Given the description of an element on the screen output the (x, y) to click on. 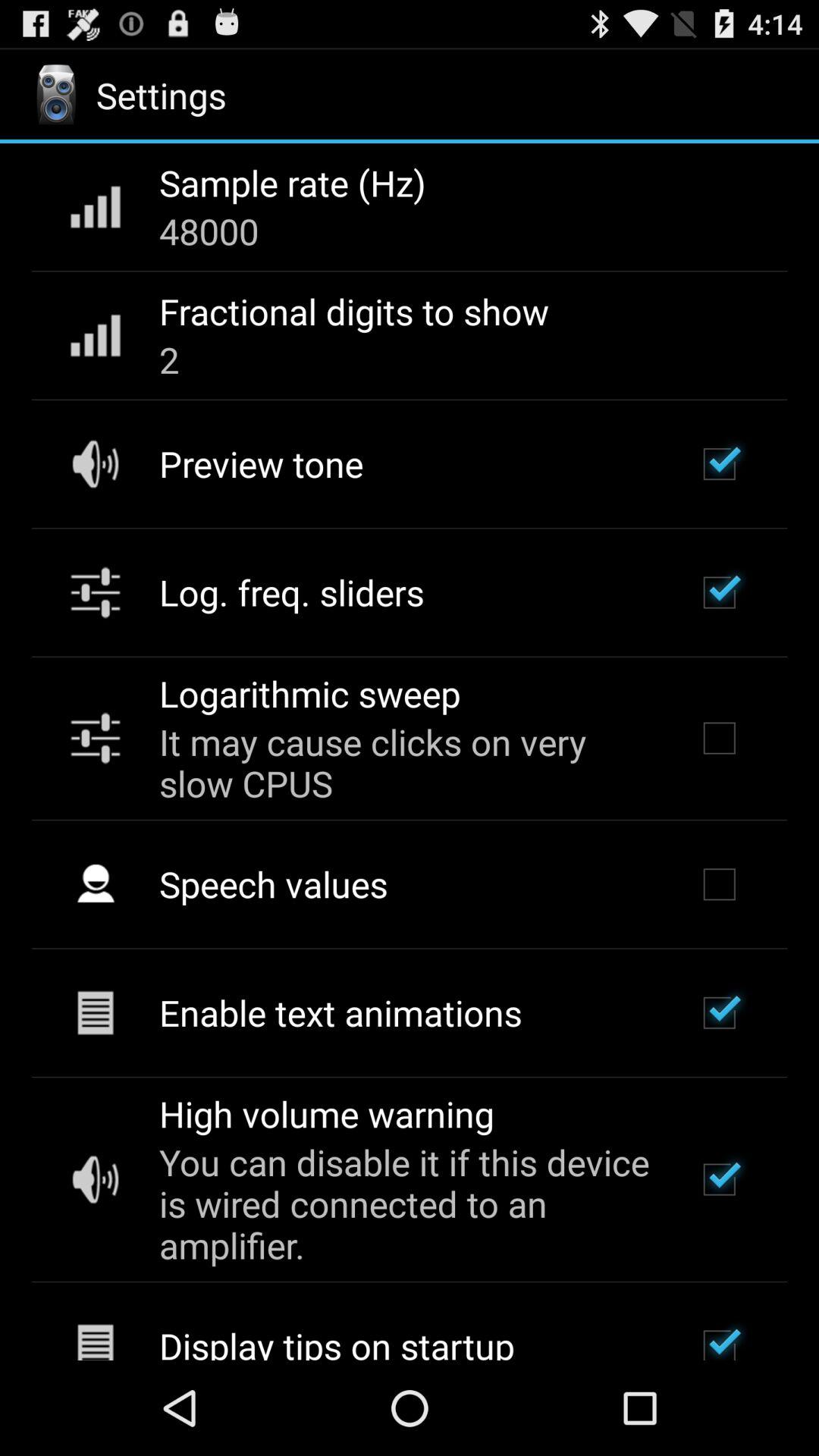
scroll to the log. freq. sliders item (291, 592)
